Given the description of an element on the screen output the (x, y) to click on. 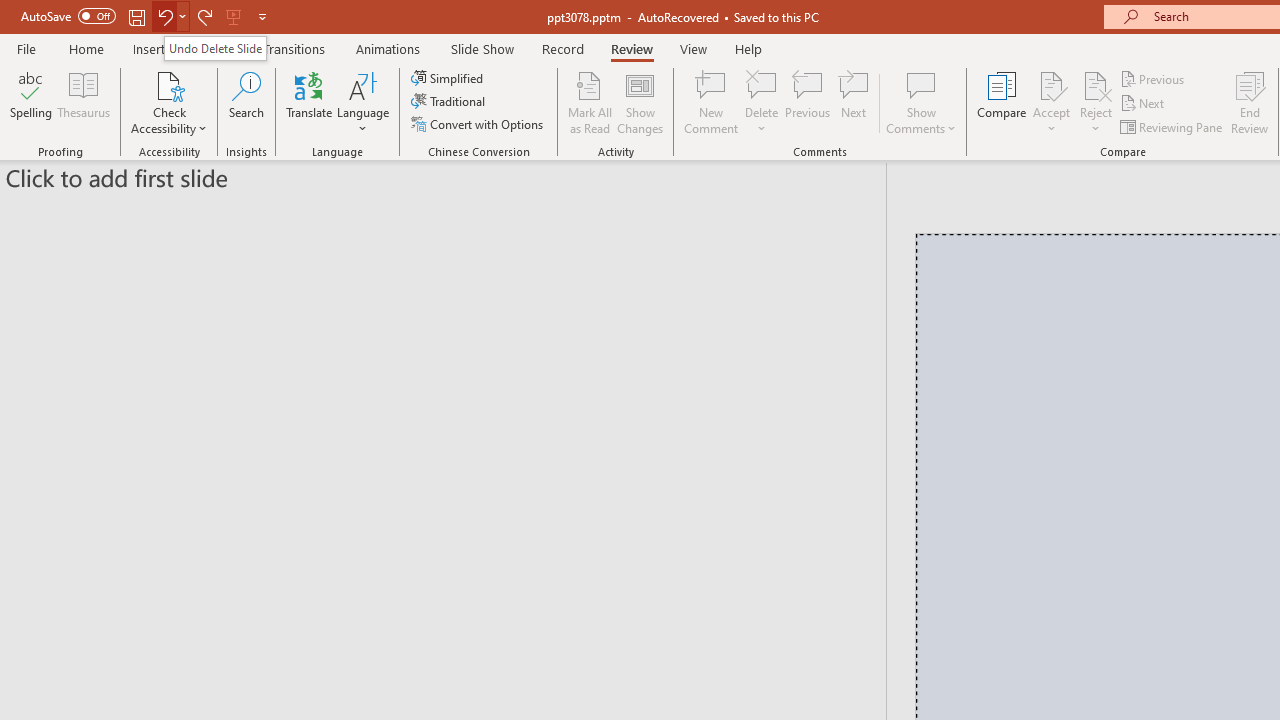
Translate (309, 102)
Reviewing Pane (1172, 126)
